Given the description of an element on the screen output the (x, y) to click on. 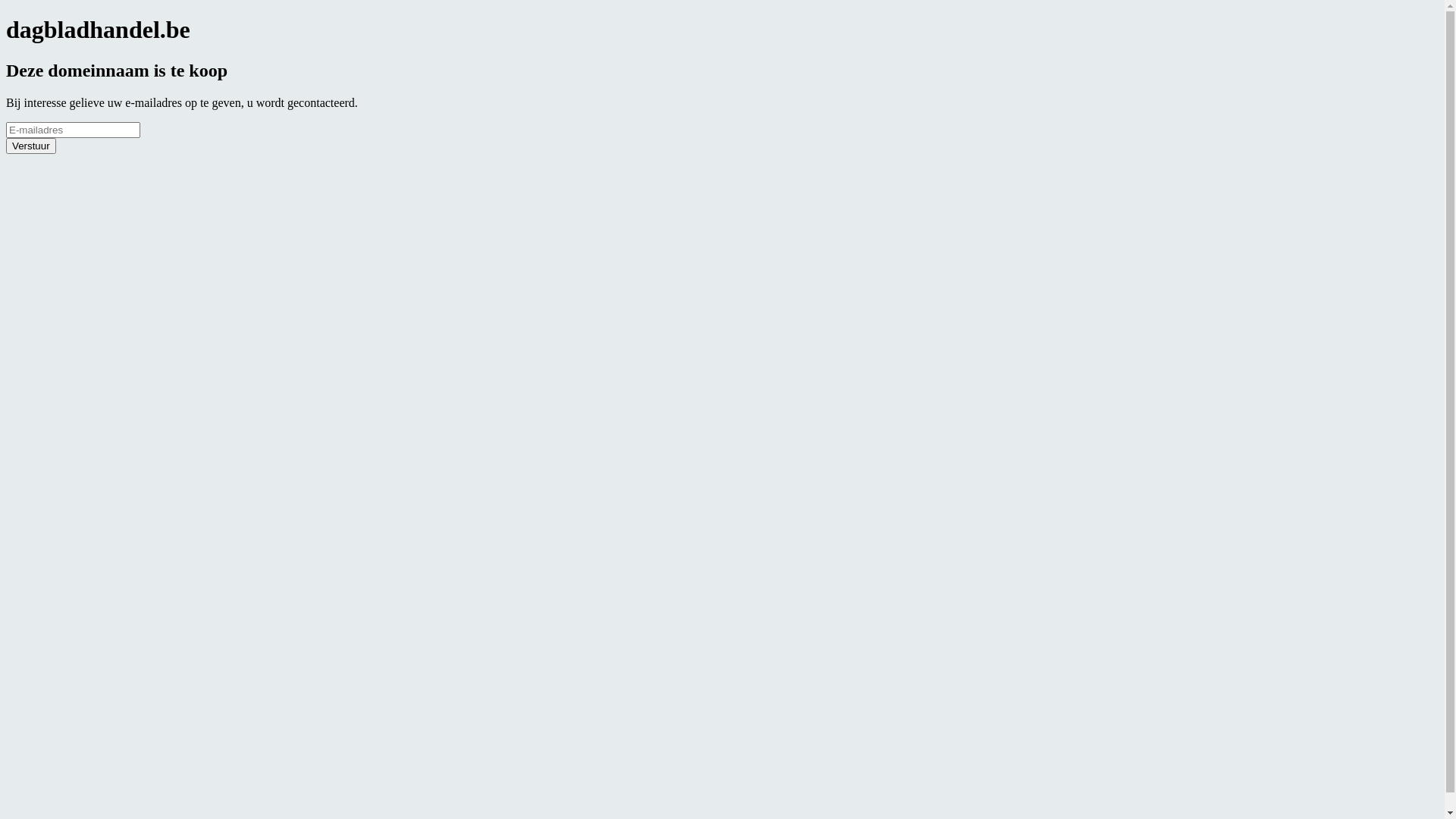
Verstuur Element type: text (31, 145)
